Given the description of an element on the screen output the (x, y) to click on. 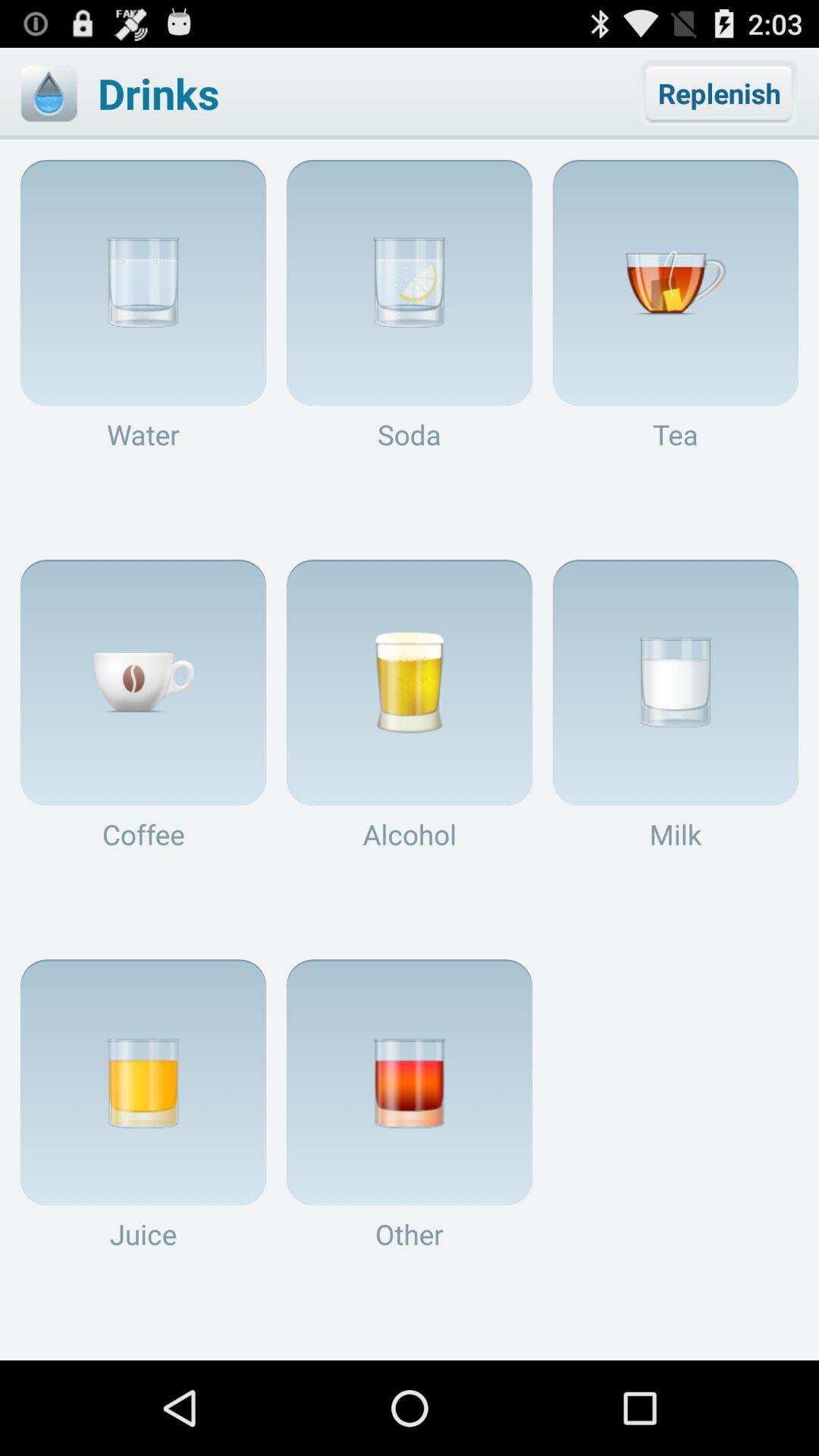
launch the replenish button (719, 92)
